Given the description of an element on the screen output the (x, y) to click on. 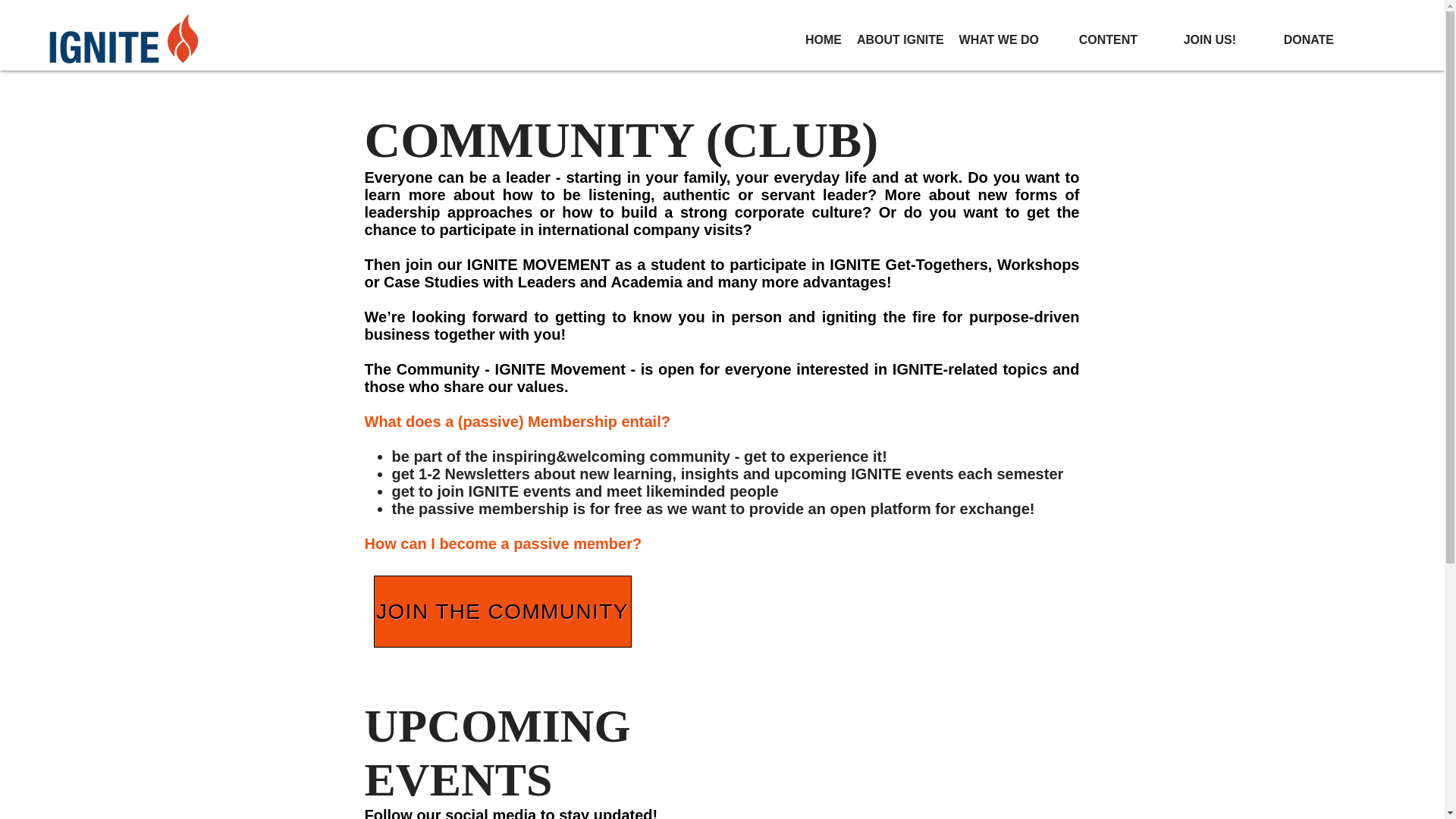
DONATE (1291, 40)
JOIN THE COMMUNITY (501, 611)
JOIN US! (1193, 40)
CONTENT (1095, 40)
HOME (799, 40)
